Given the description of an element on the screen output the (x, y) to click on. 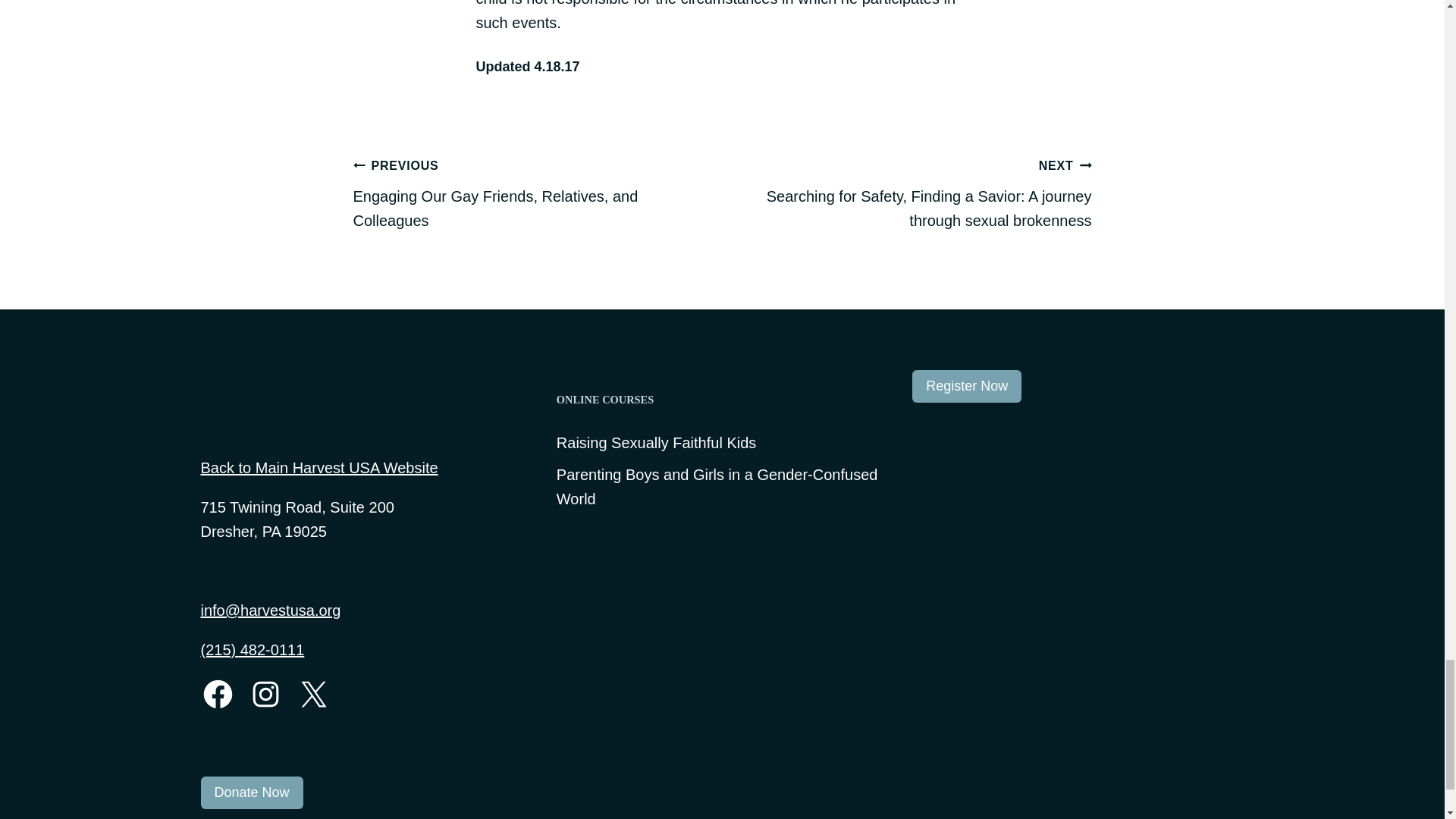
Visit the main Harvest USA Website (276, 408)
Parenting Boys and Girls in a Gender-Confused World (722, 486)
Back to Main Harvest USA Website (319, 467)
Follow Harvest USA on Facebook (217, 694)
Donate Now (251, 792)
ONLINE COURSES (722, 399)
Raising Sexually Faithful Kids (655, 442)
Follow Harvest USA on Instagram (265, 694)
Register Now (967, 386)
